Given the description of an element on the screen output the (x, y) to click on. 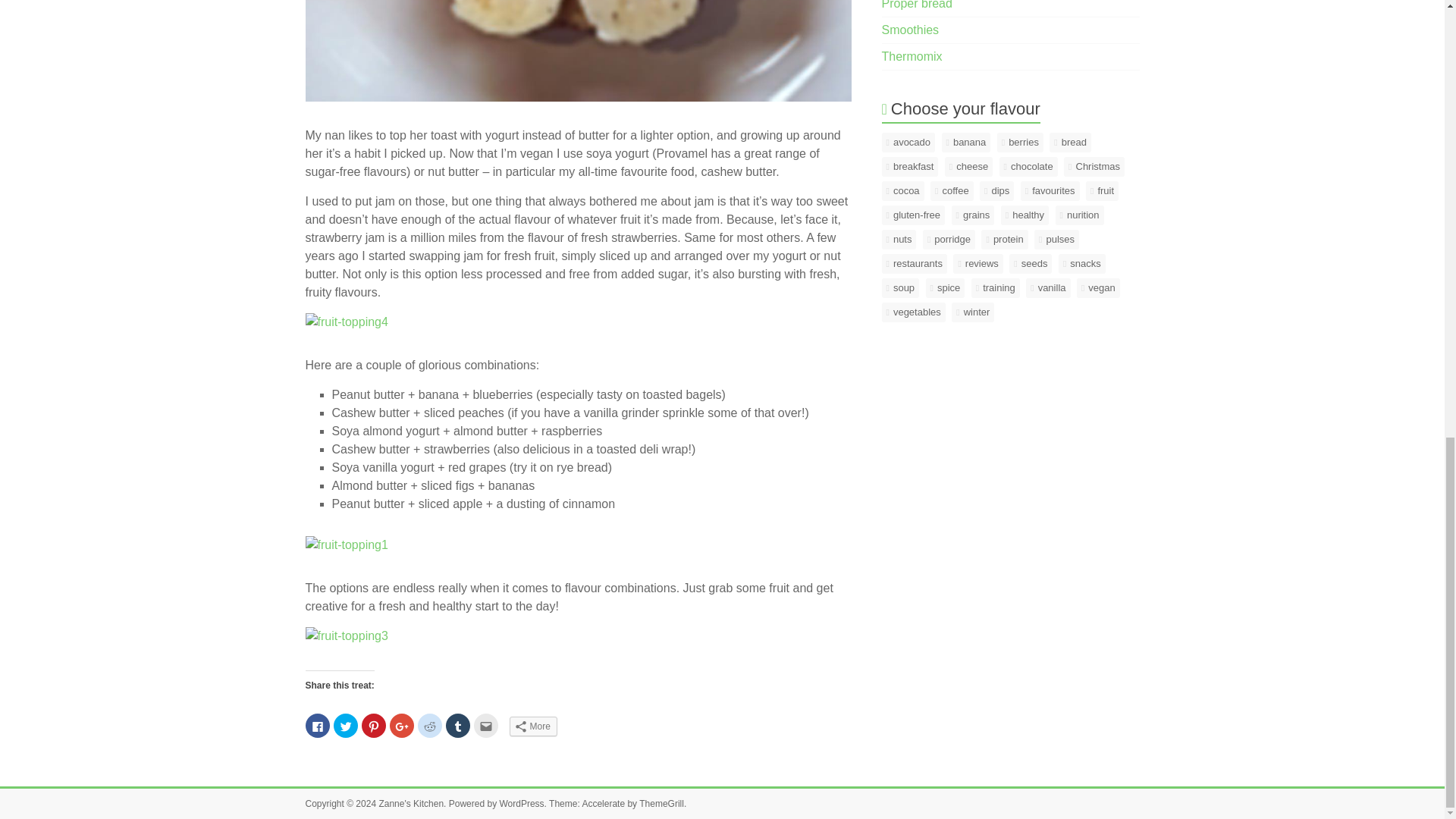
Click to share on Reddit (428, 725)
Click to share on Facebook (316, 725)
Click to share on Pinterest (373, 725)
Click to share on Twitter (345, 725)
Click to share on Tumblr (457, 725)
More (533, 726)
Click to email this to a friend (485, 725)
